Given the description of an element on the screen output the (x, y) to click on. 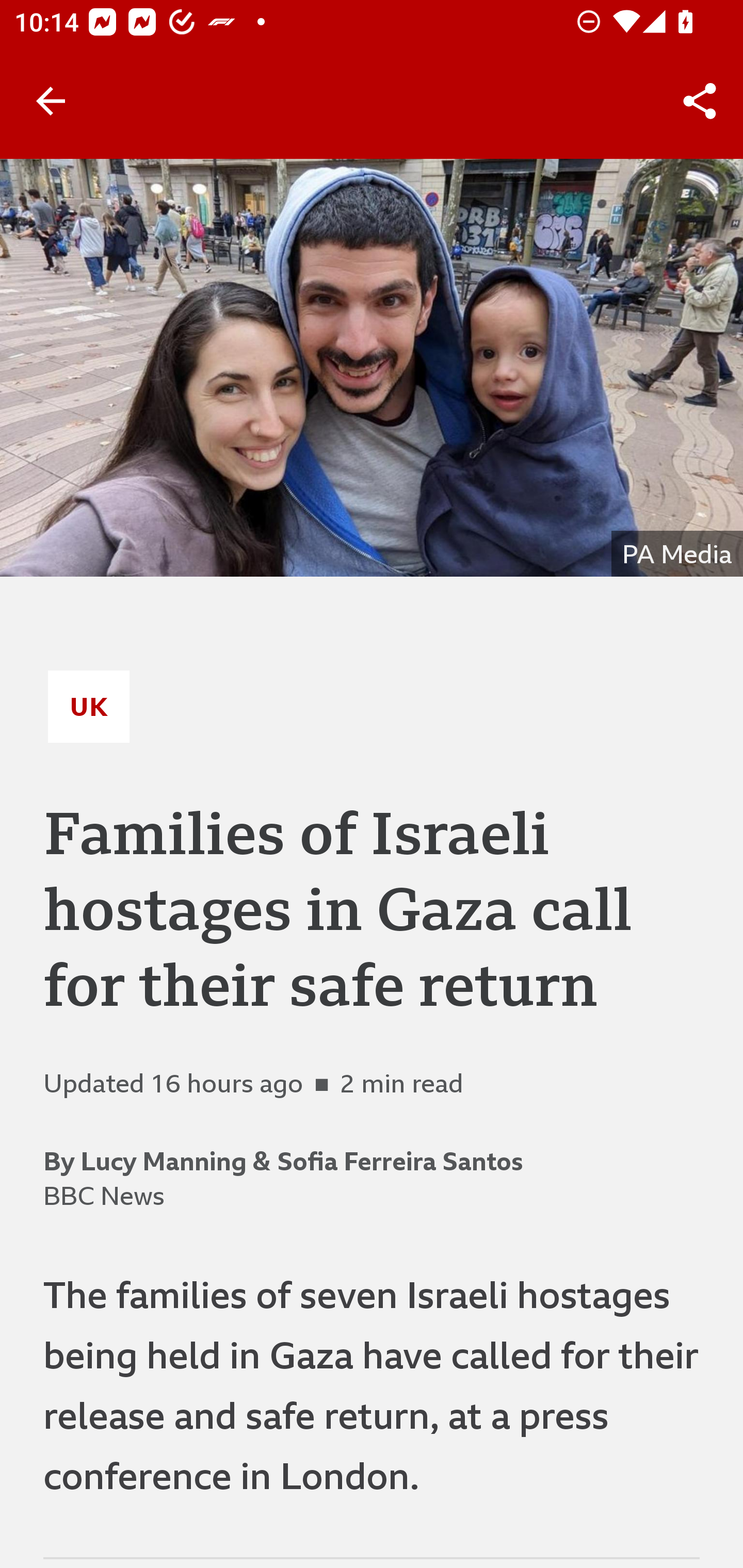
Back (50, 101)
Share (699, 101)
Eynav Levy, Or Levy and their son Almog (371, 367)
UK (88, 706)
